Given the description of an element on the screen output the (x, y) to click on. 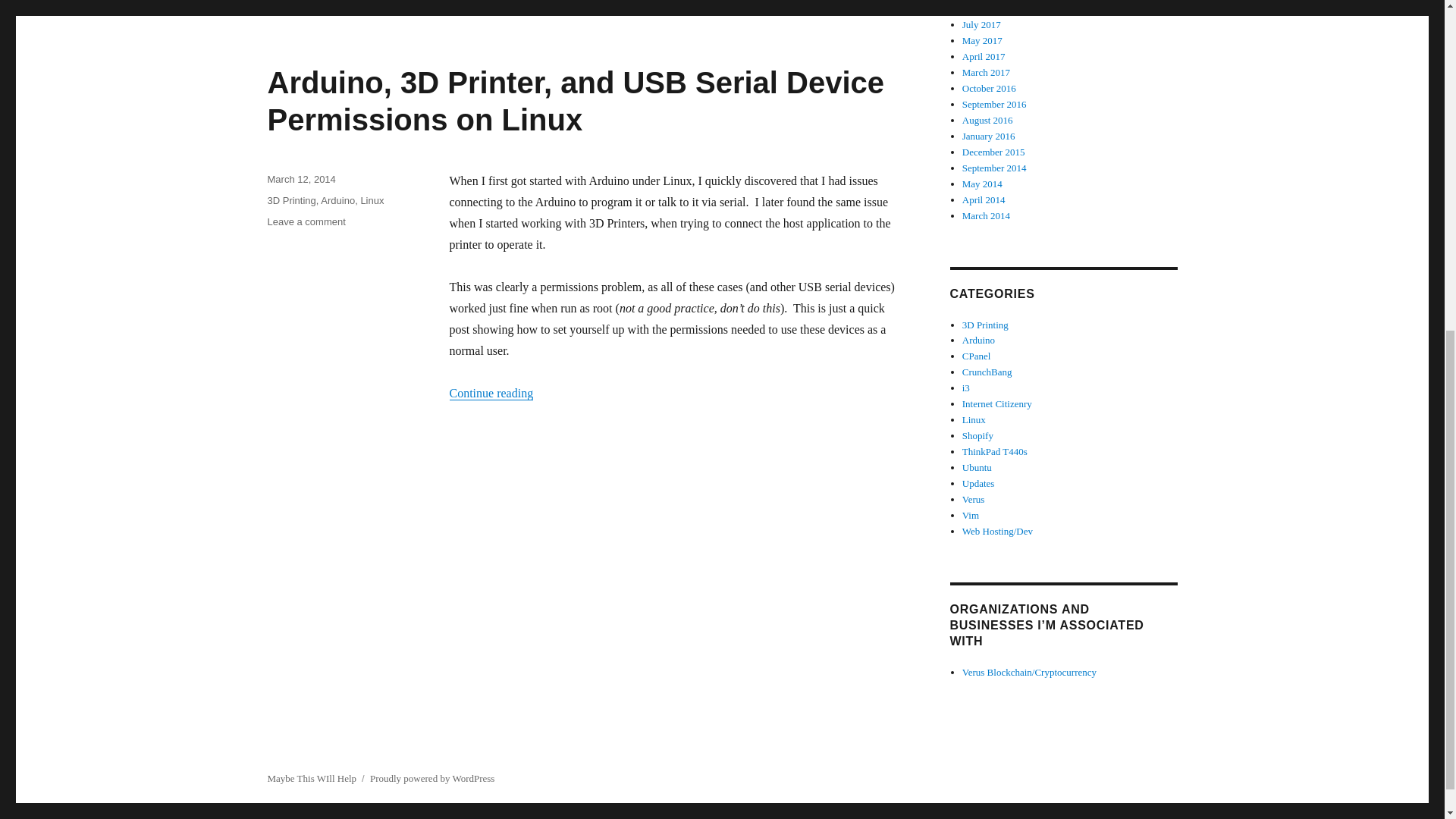
March 12, 2014 (300, 179)
April 2017 (984, 56)
3D Printing (290, 200)
September 2014 (994, 167)
July 2017 (981, 24)
January 2016 (988, 135)
September 2016 (994, 103)
August 2016 (987, 120)
October 2016 (989, 88)
